Given the description of an element on the screen output the (x, y) to click on. 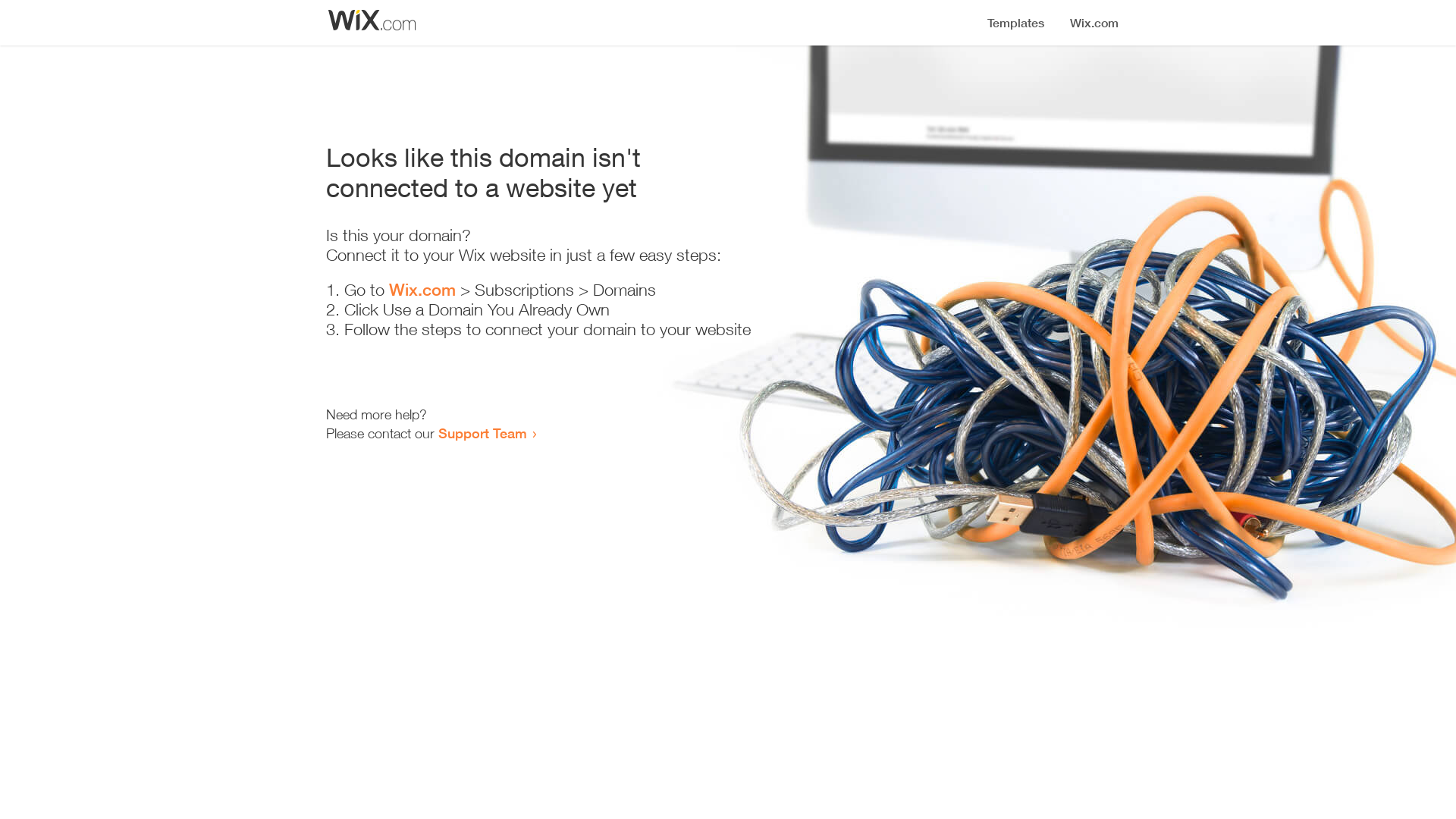
Wix.com Element type: text (422, 289)
Support Team Element type: text (482, 432)
